Given the description of an element on the screen output the (x, y) to click on. 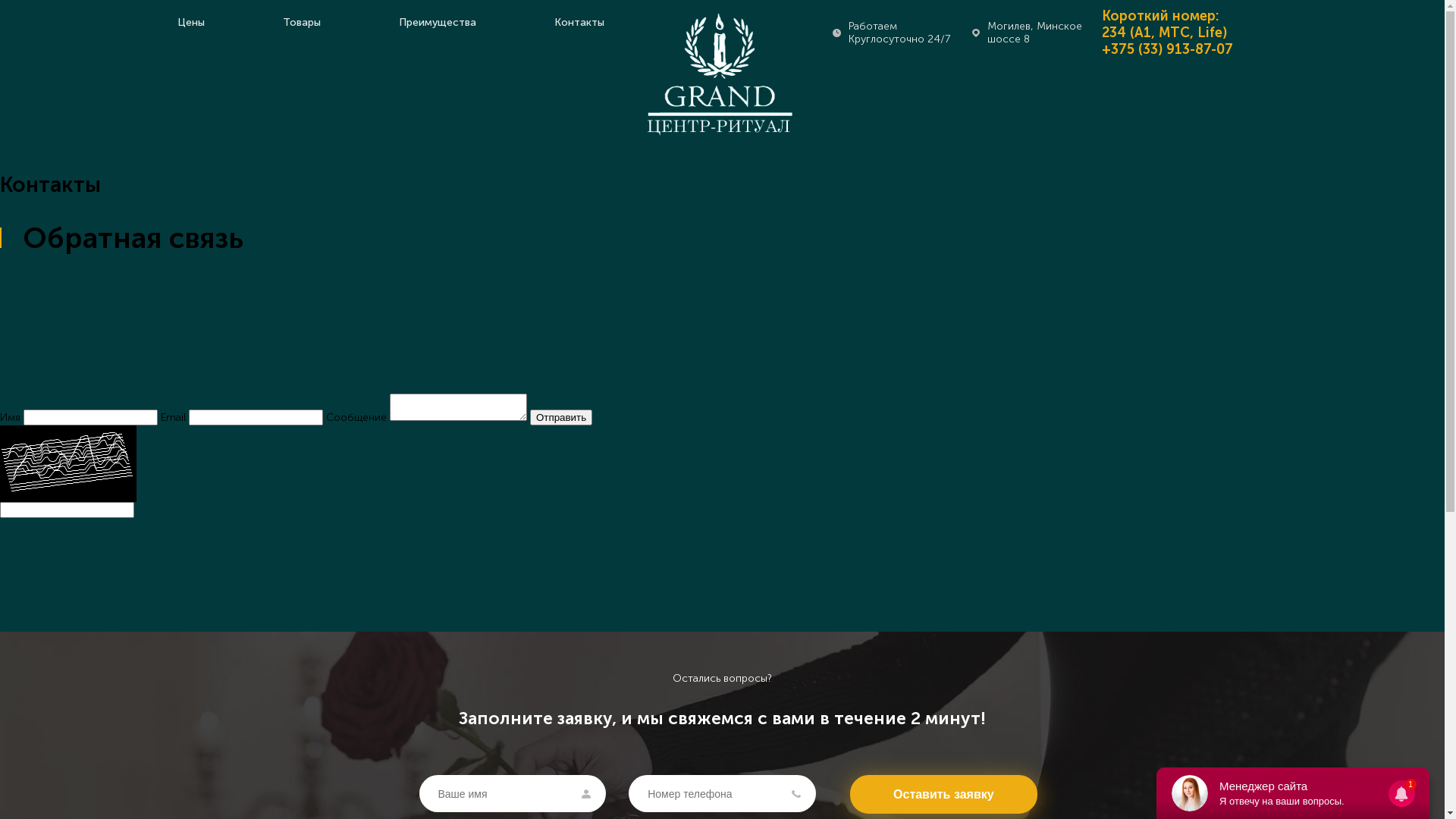
+375 (33) 913-87-07 Element type: text (1166, 48)
